Given the description of an element on the screen output the (x, y) to click on. 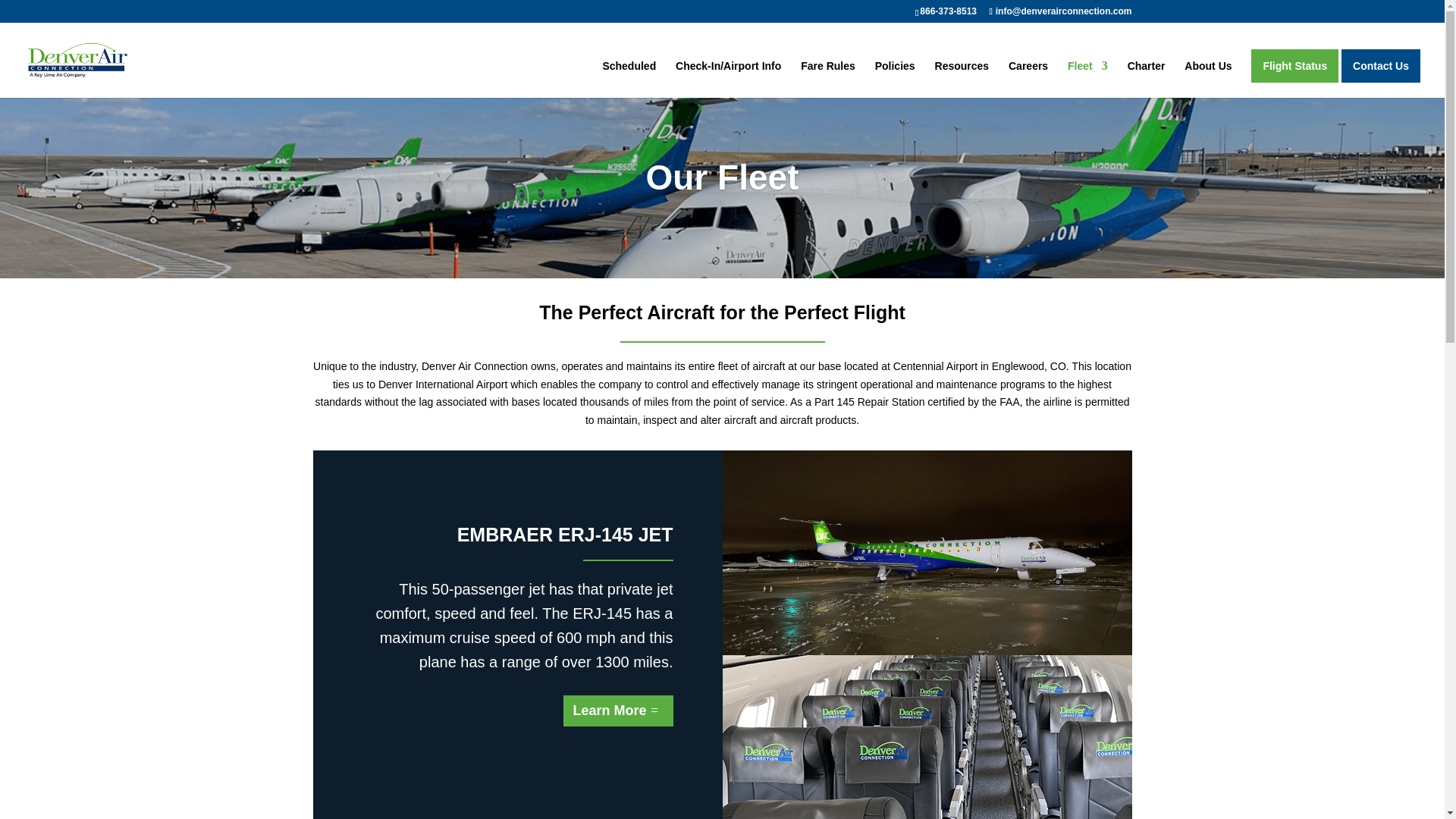
About Us (1208, 78)
Contact Us (1380, 65)
Fleet (1087, 78)
Careers (1028, 78)
Charter (1146, 78)
Scheduled (629, 78)
Fare Rules (828, 78)
Policies (895, 78)
Learn More (617, 710)
Flight Status (1294, 65)
